Given the description of an element on the screen output the (x, y) to click on. 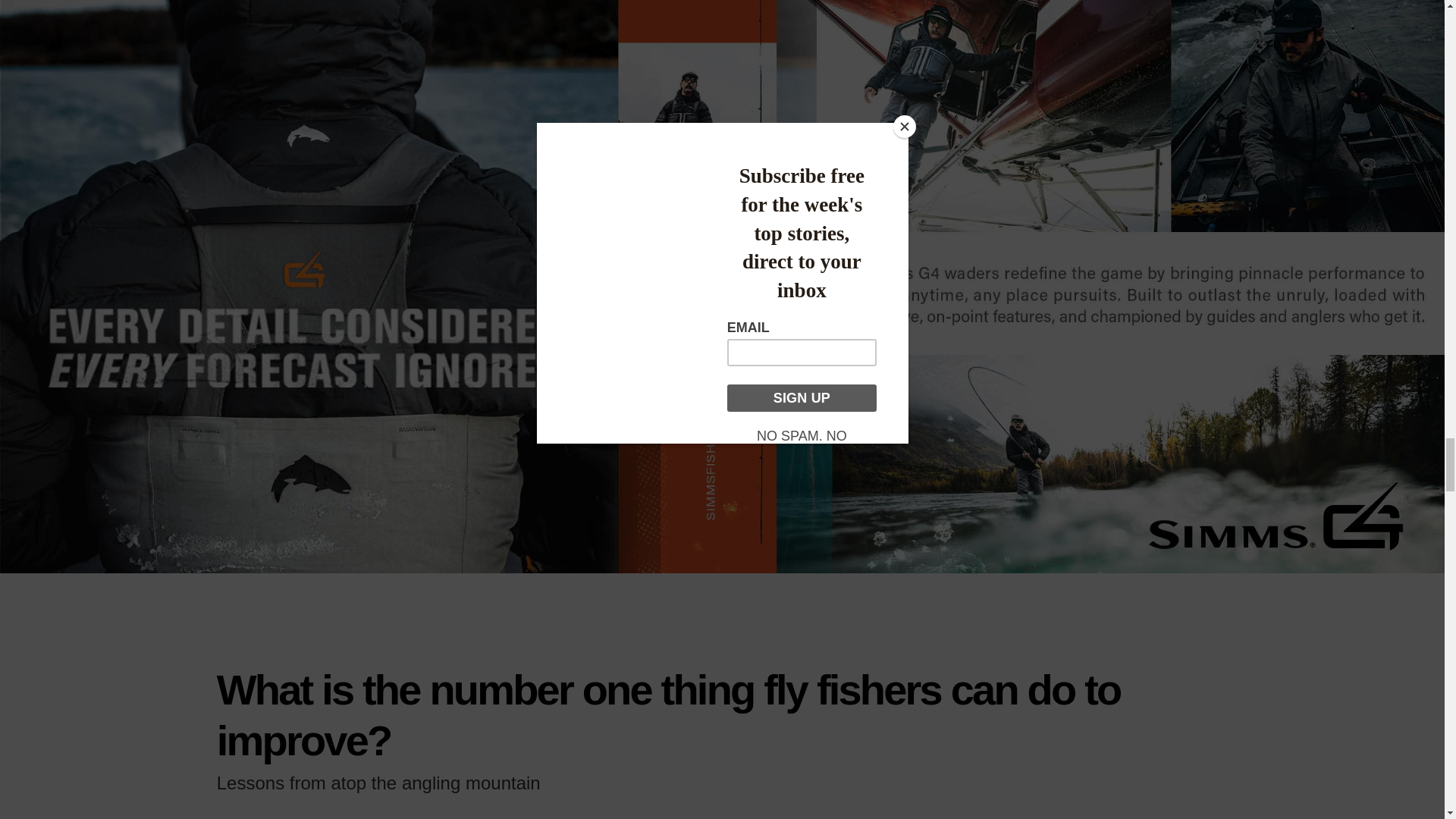
What is the number one thing fly fishers can do to improve? (668, 714)
